Given the description of an element on the screen output the (x, y) to click on. 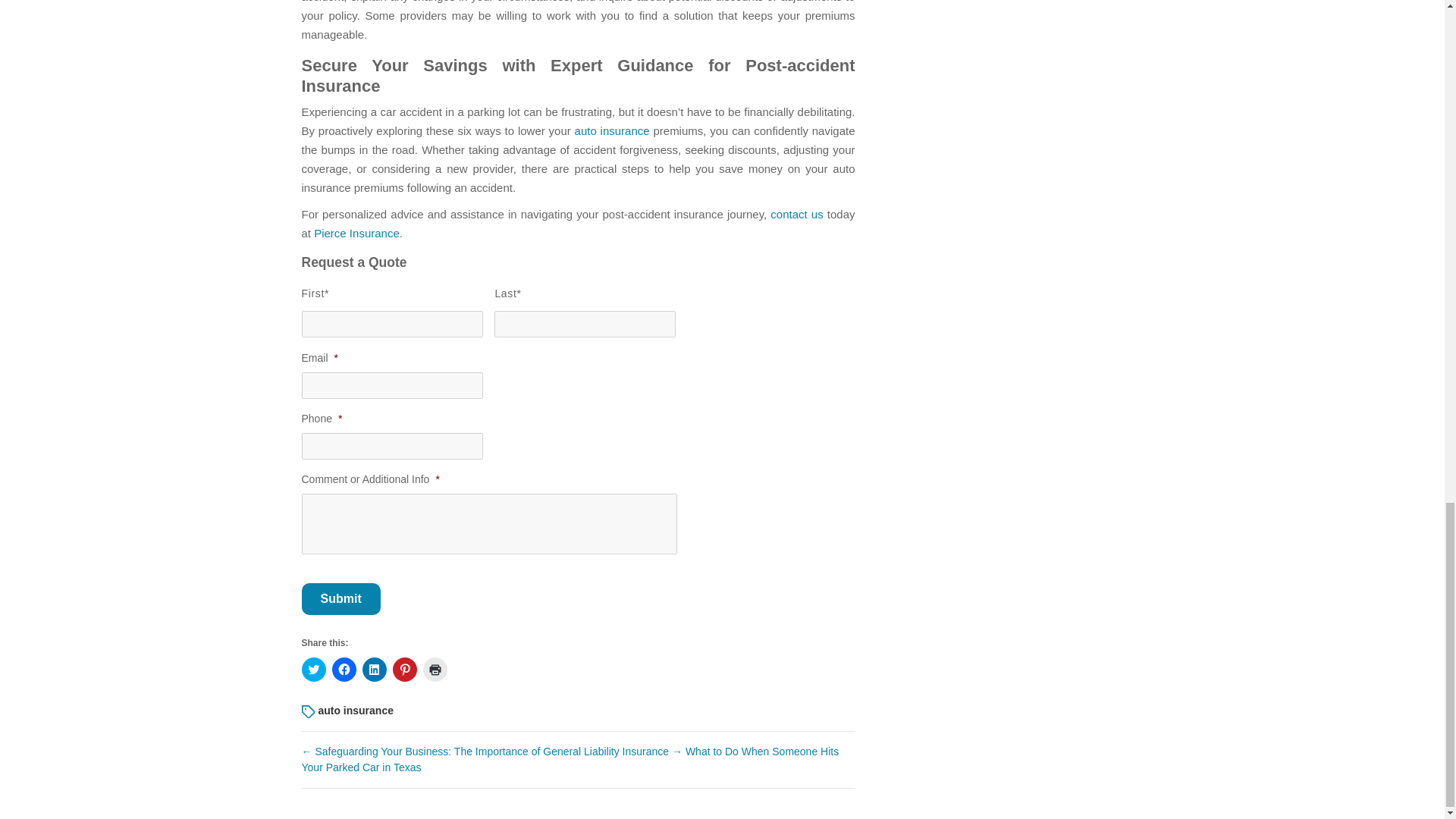
contact us (796, 214)
Click to share on LinkedIn (374, 669)
Submit (340, 599)
Submit (340, 599)
auto insurance (355, 710)
Click to share on Facebook (343, 669)
Pierce Insurance (356, 232)
Click to share on Twitter (313, 669)
auto insurance (612, 130)
Click to print (434, 669)
